Given the description of an element on the screen output the (x, y) to click on. 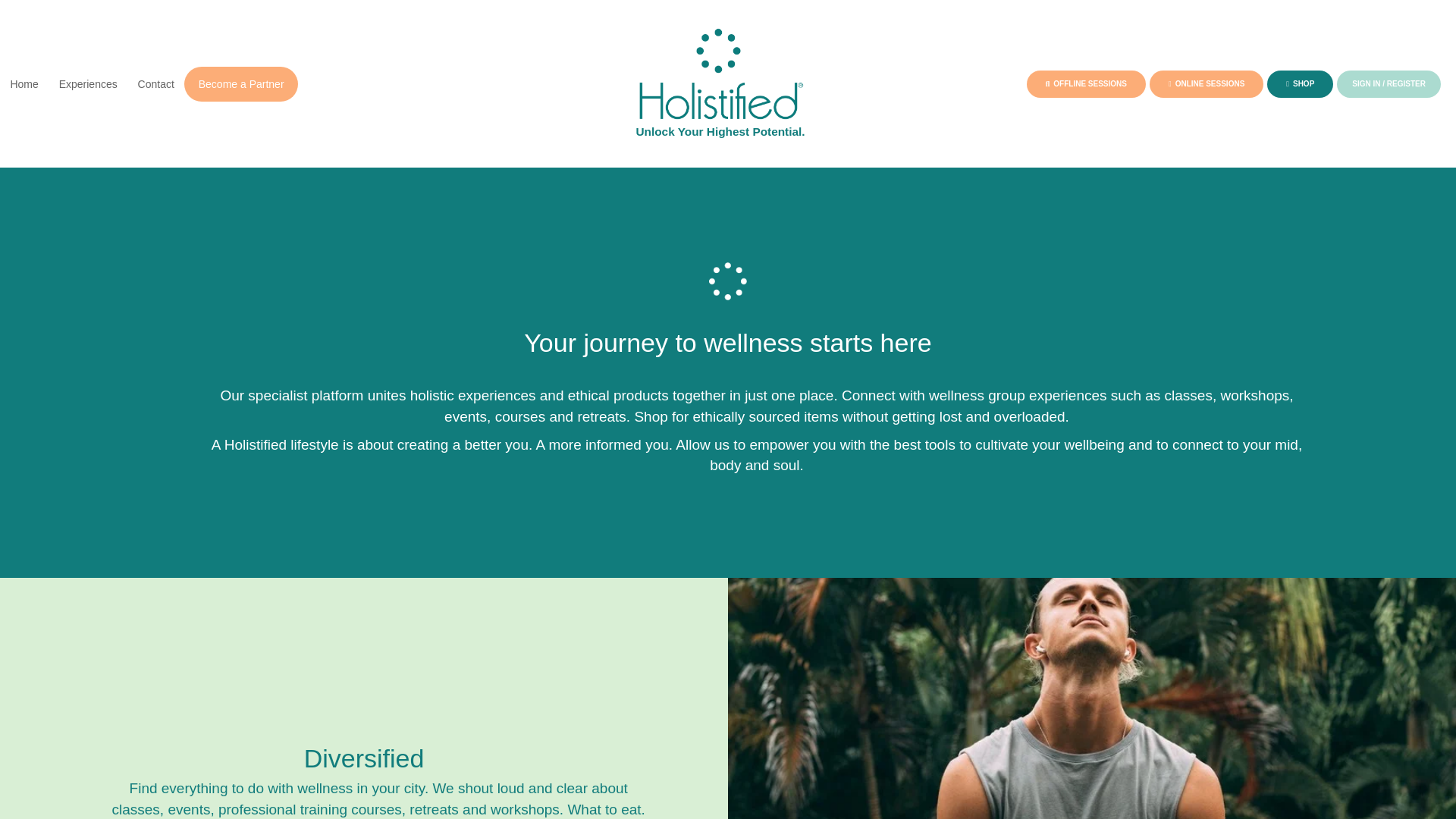
Home (24, 83)
Experiences (88, 83)
